Given the description of an element on the screen output the (x, y) to click on. 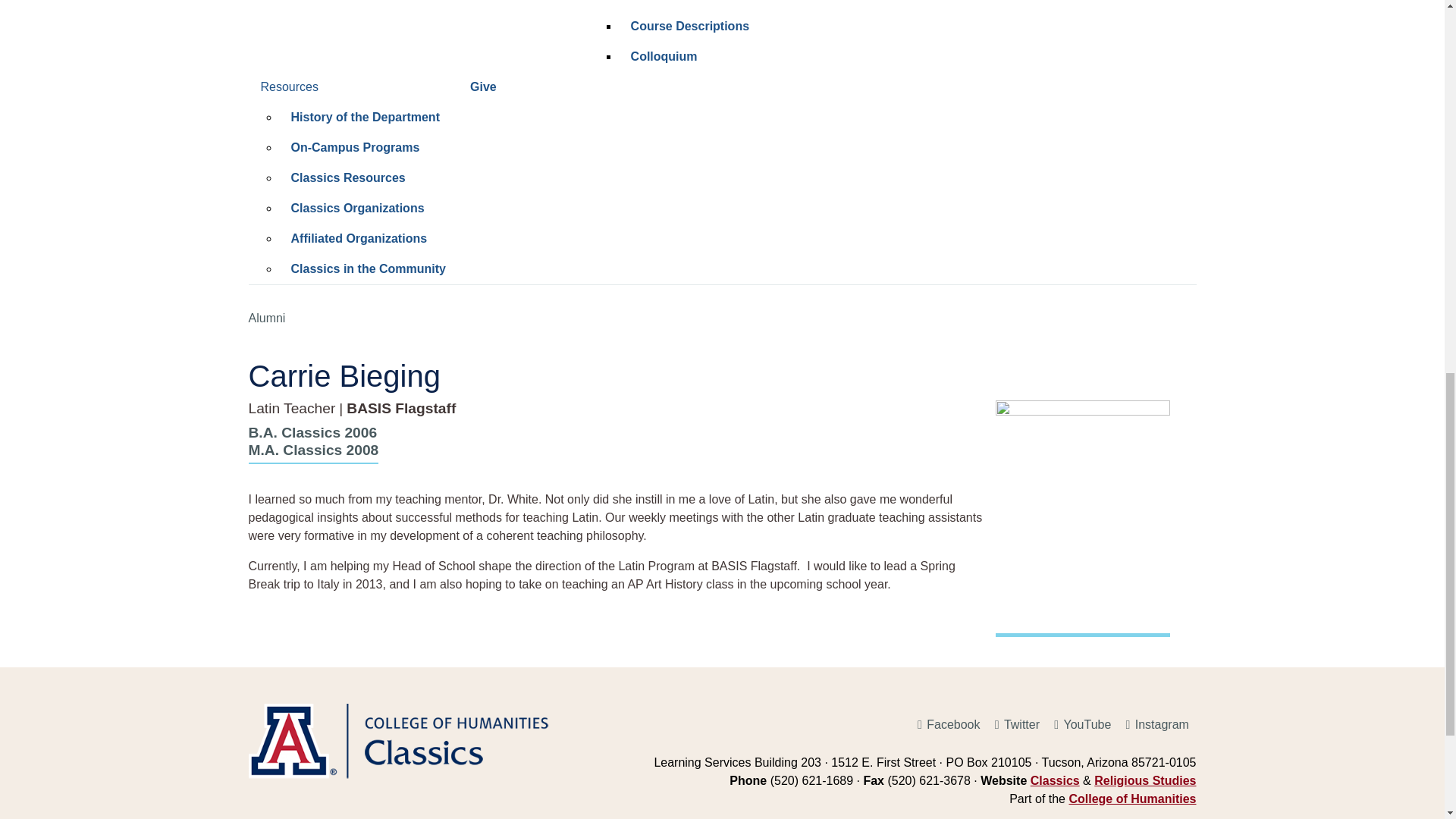
Course Descriptions (759, 26)
Colloquium (759, 56)
Course Schedule (759, 5)
